Given the description of an element on the screen output the (x, y) to click on. 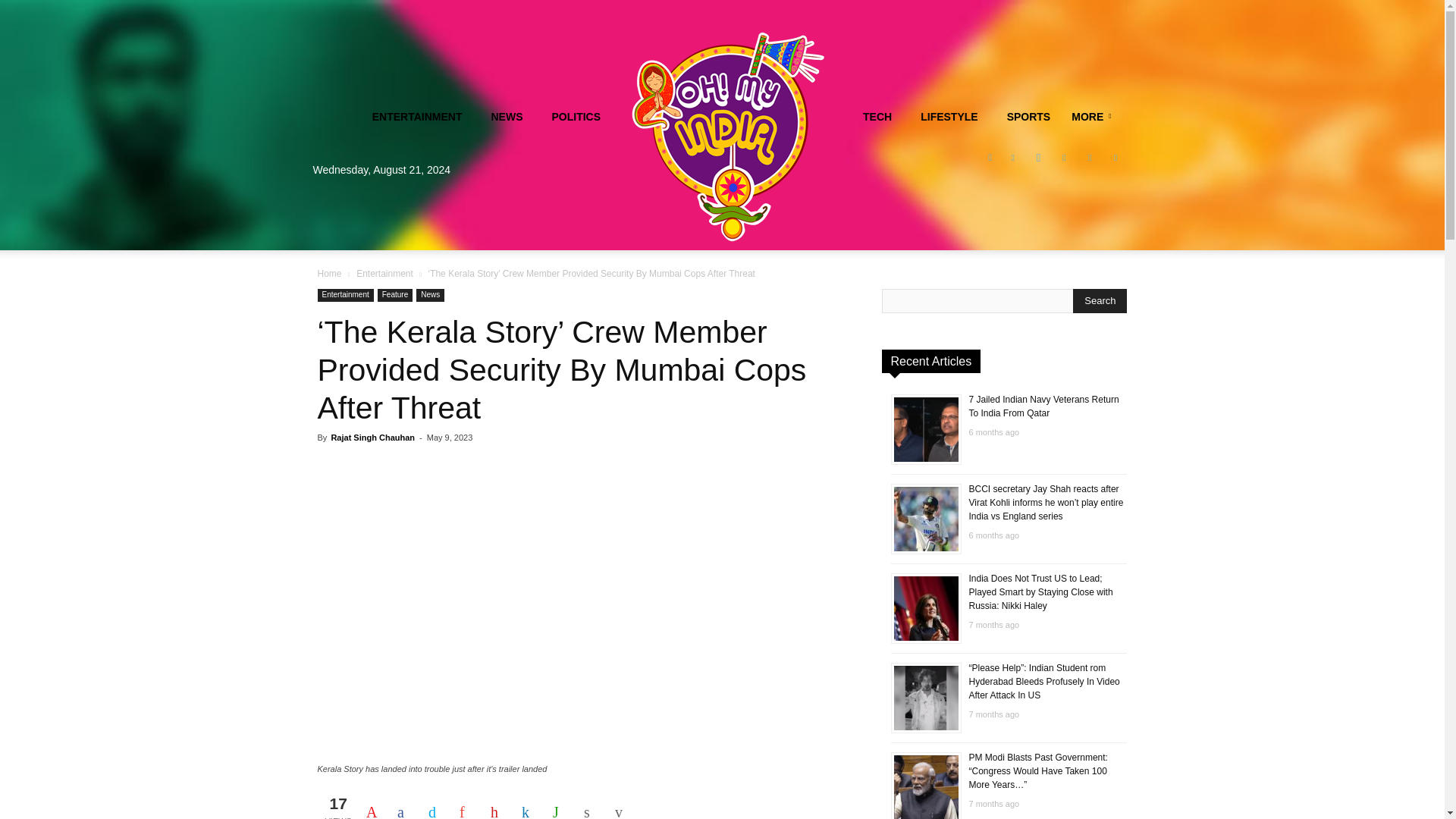
POLITICS (572, 116)
LIFESTYLE (945, 116)
Search (1099, 300)
Entertainment (344, 295)
SPORTS (1024, 116)
OMI (727, 136)
News (430, 295)
Home (328, 273)
Feature (394, 295)
View all posts in Entertainment (384, 273)
